Given the description of an element on the screen output the (x, y) to click on. 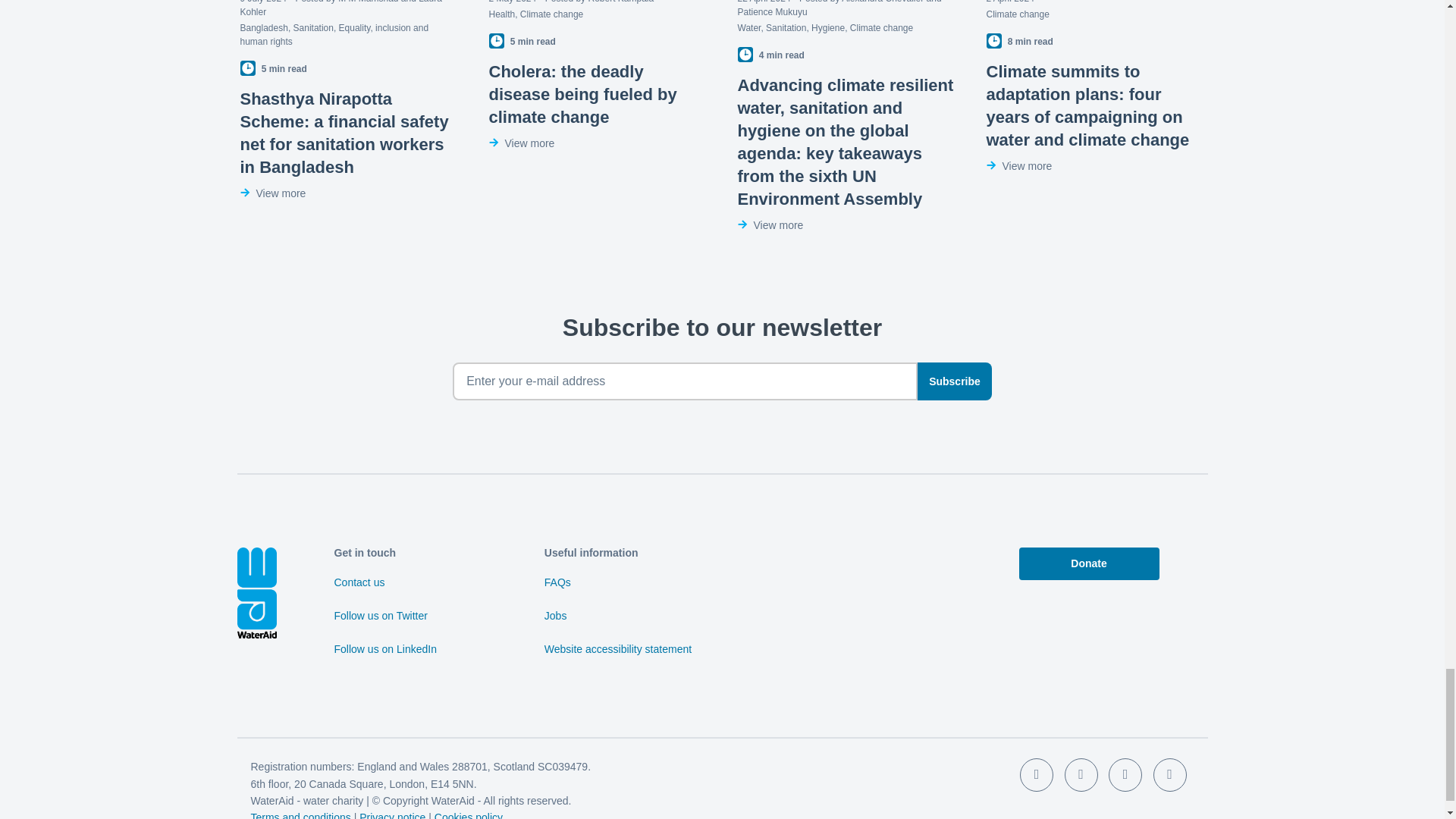
Subscribe (954, 381)
